Given the description of an element on the screen output the (x, y) to click on. 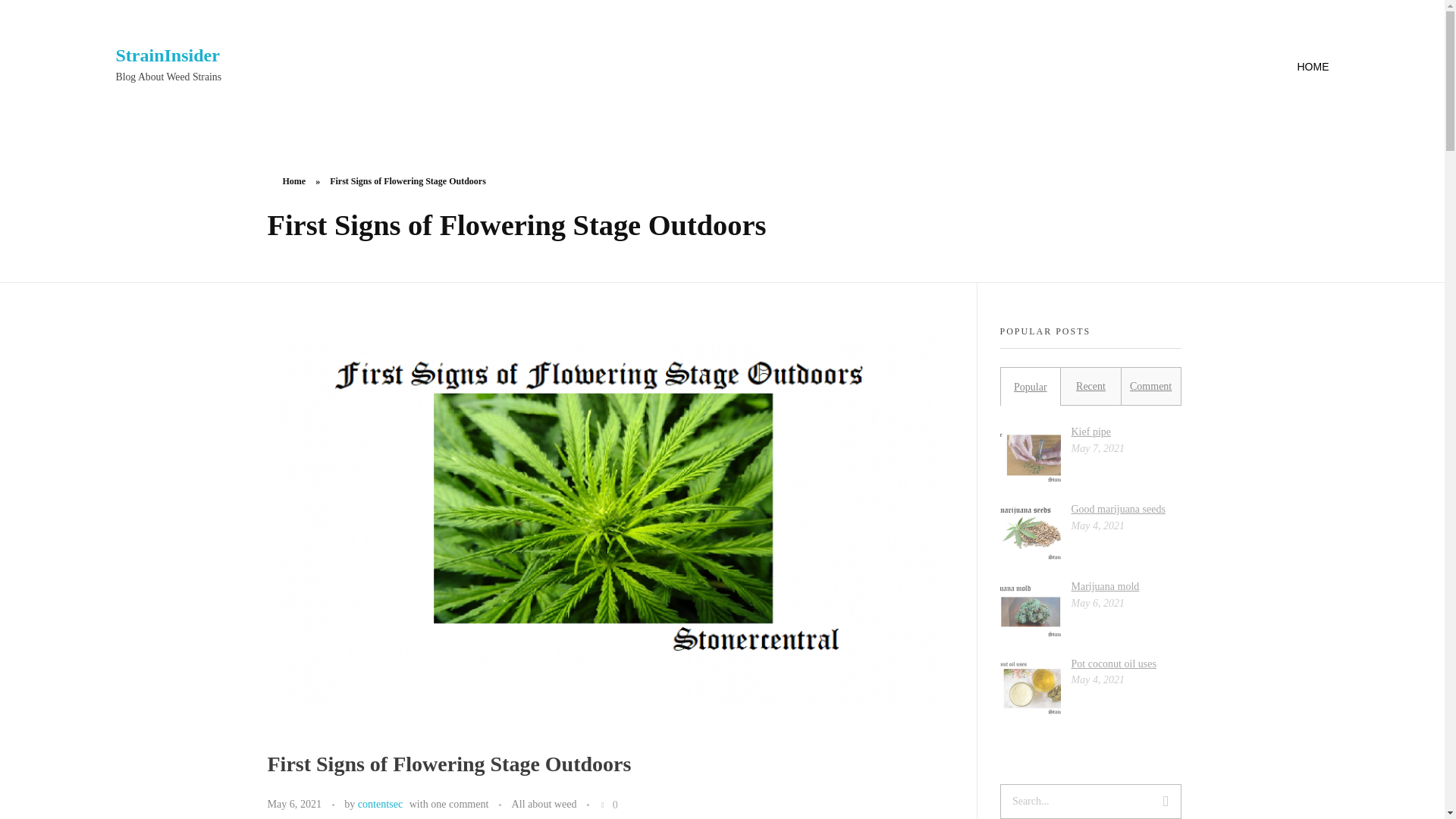
Pot coconut oil uses (1113, 663)
HOME (1296, 66)
Home (293, 181)
Marijuana mold (1104, 586)
contentsec (380, 803)
Recent (1090, 386)
Kief pipe (1089, 431)
All about weed (544, 804)
Popular (1029, 387)
View all posts by contentsec (380, 803)
